Given the description of an element on the screen output the (x, y) to click on. 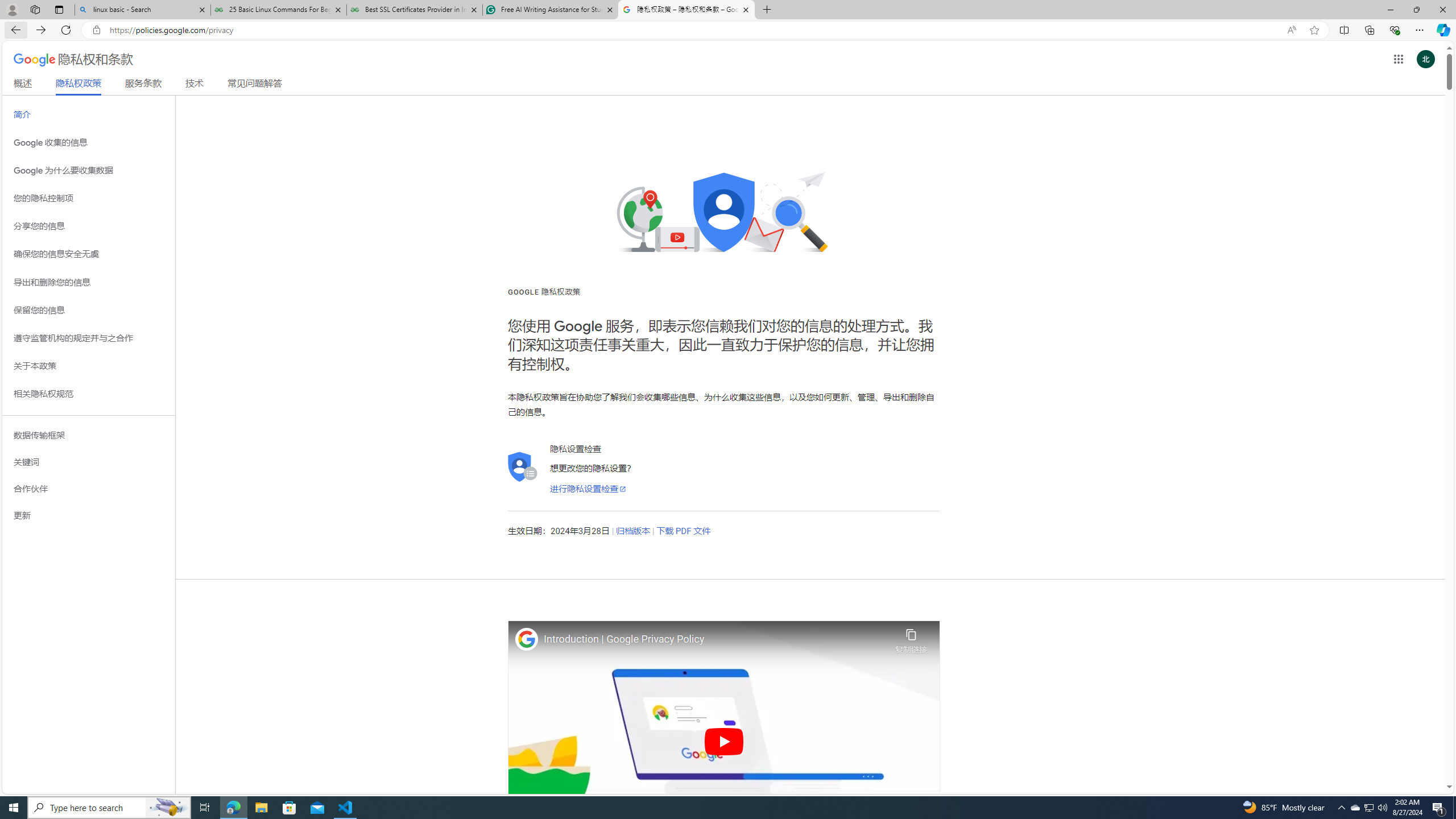
App bar (728, 29)
Refresh (66, 29)
Copilot (Ctrl+Shift+.) (1442, 29)
25 Basic Linux Commands For Beginners - GeeksforGeeks (277, 9)
Close (1442, 9)
Best SSL Certificates Provider in India - GeeksforGeeks (414, 9)
Tab actions menu (58, 9)
